Given the description of an element on the screen output the (x, y) to click on. 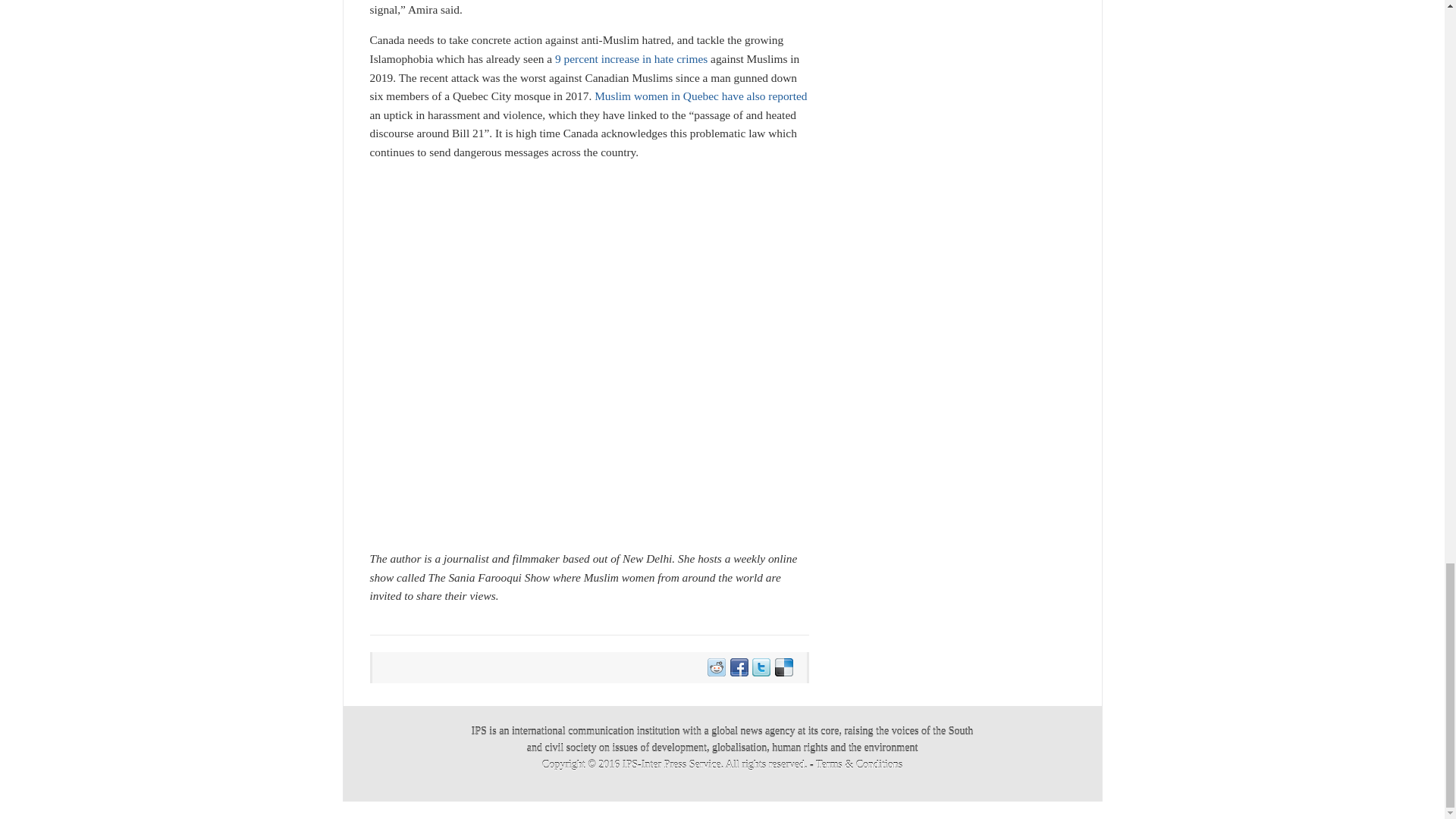
Share on Facebook (738, 667)
Share on Reddit (715, 667)
Share on Delicious (783, 667)
Share on Twitter (760, 667)
